Given the description of an element on the screen output the (x, y) to click on. 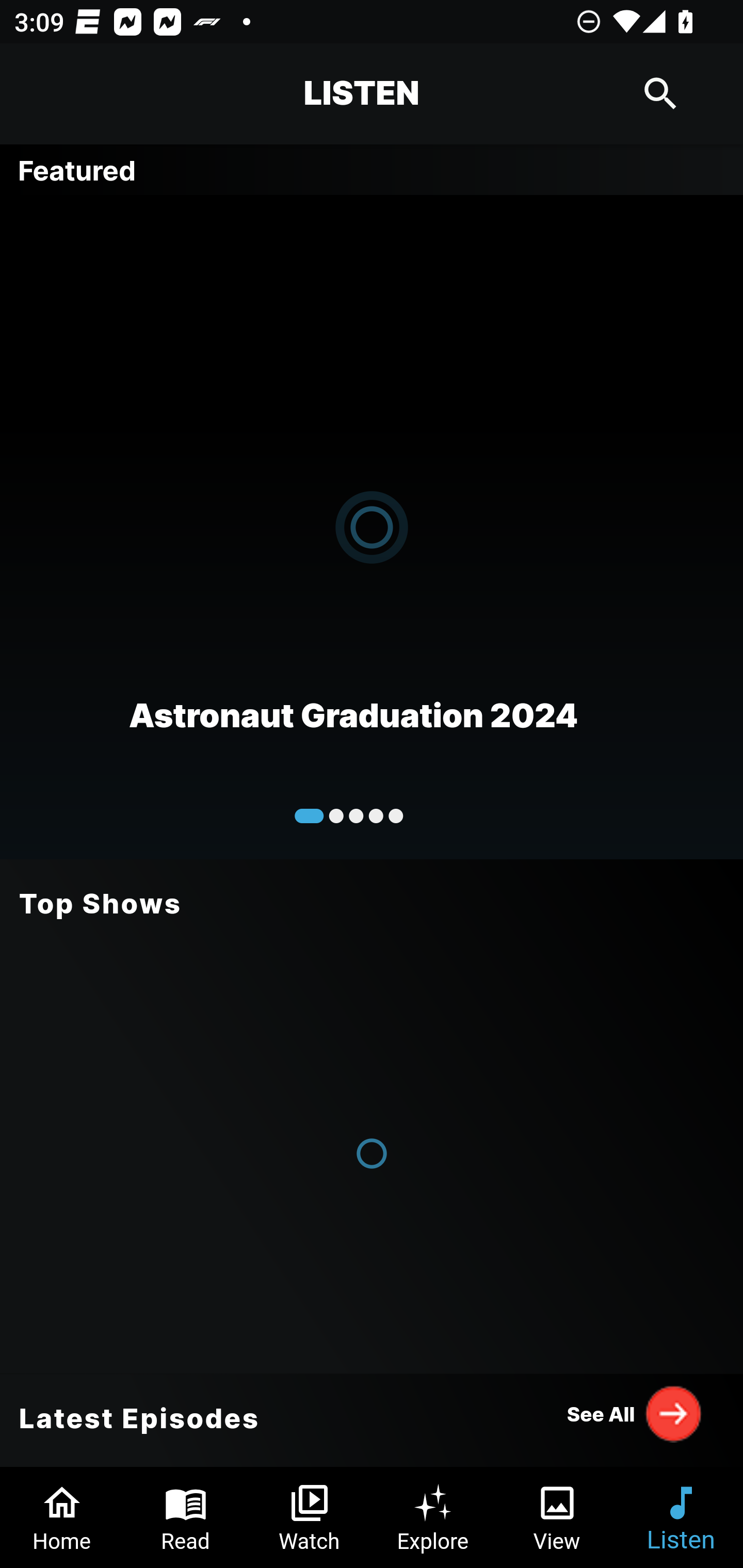
Astronaut Graduation 2024 (371, 526)
See All (634, 1413)
Home
Tab 1 of 6 (62, 1517)
Read
Tab 2 of 6 (185, 1517)
Watch
Tab 3 of 6 (309, 1517)
Explore
Tab 4 of 6 (433, 1517)
View
Tab 5 of 6 (556, 1517)
Listen
Tab 6 of 6 (680, 1517)
